Given the description of an element on the screen output the (x, y) to click on. 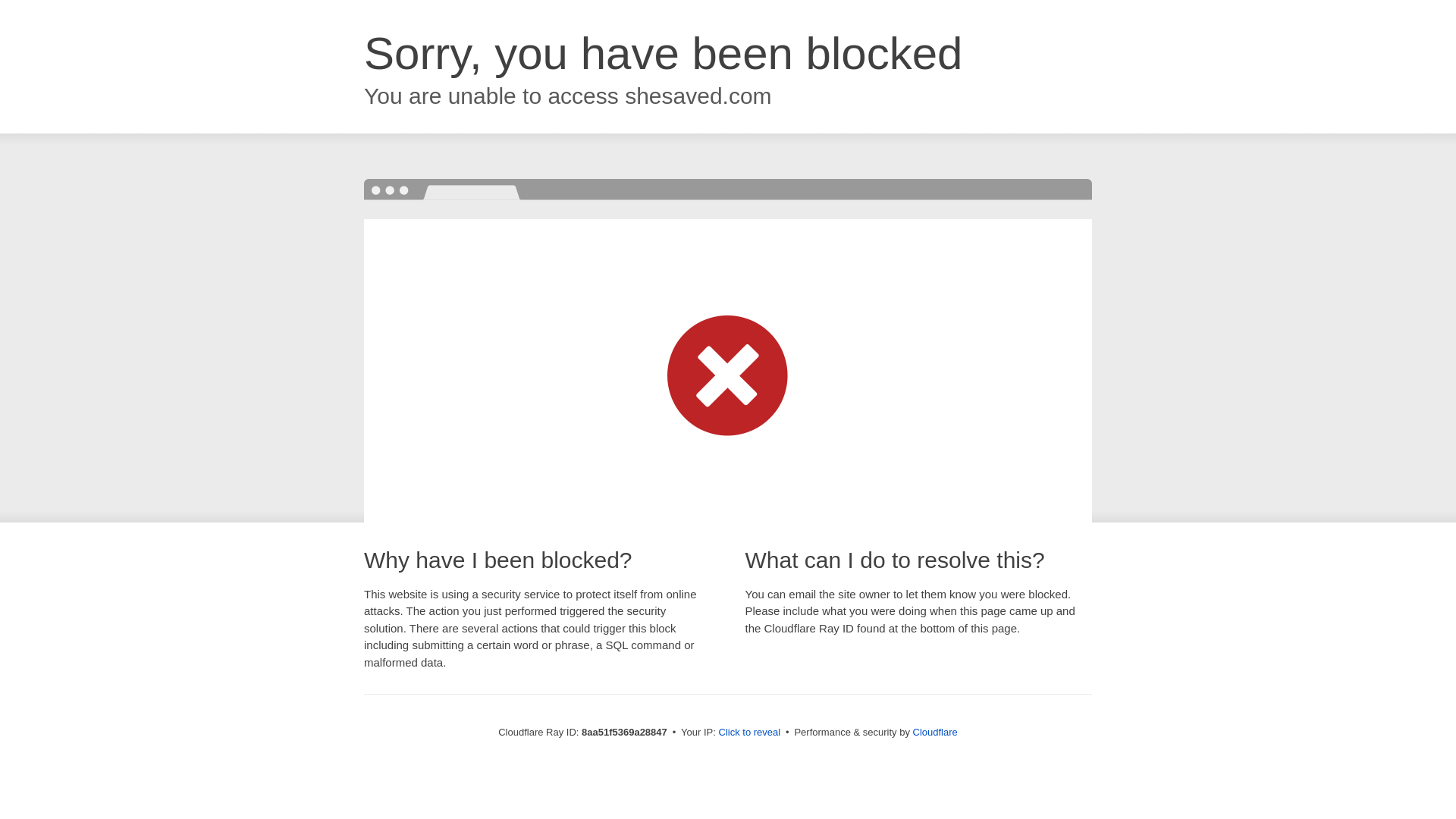
Cloudflare (935, 731)
Click to reveal (749, 732)
